Given the description of an element on the screen output the (x, y) to click on. 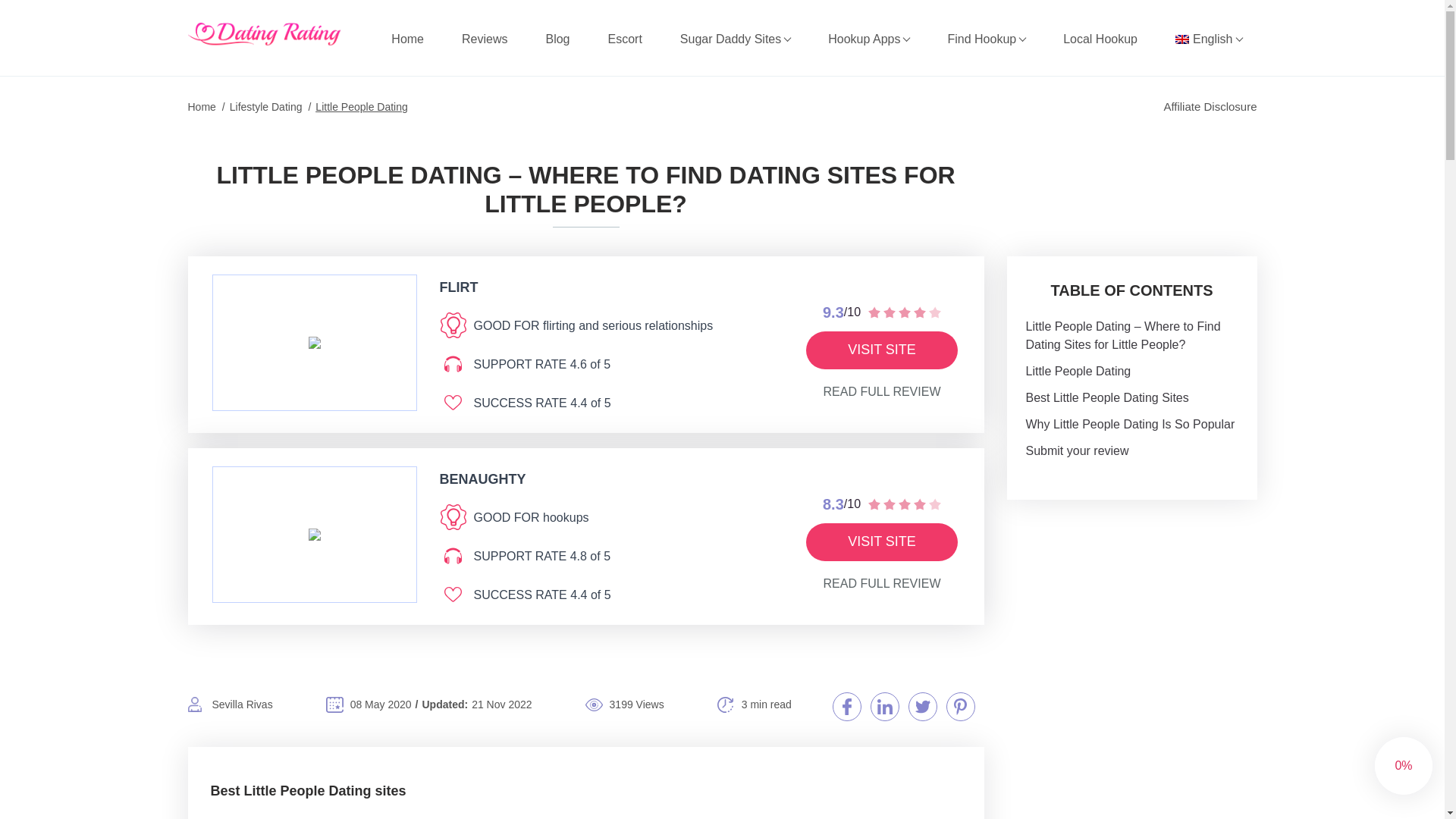
Local Hookup (1100, 39)
Find Hookup (986, 39)
Sugar Daddy Sites (735, 39)
Sugar Daddy Sites (735, 39)
datingrating.net (264, 34)
Blog (557, 39)
English (1208, 39)
Reviews (484, 39)
Home (407, 39)
Escort (625, 39)
Hookup Apps (868, 39)
Hookup Apps (868, 39)
Blog (557, 39)
Home (407, 39)
Reviews (484, 39)
